Given the description of an element on the screen output the (x, y) to click on. 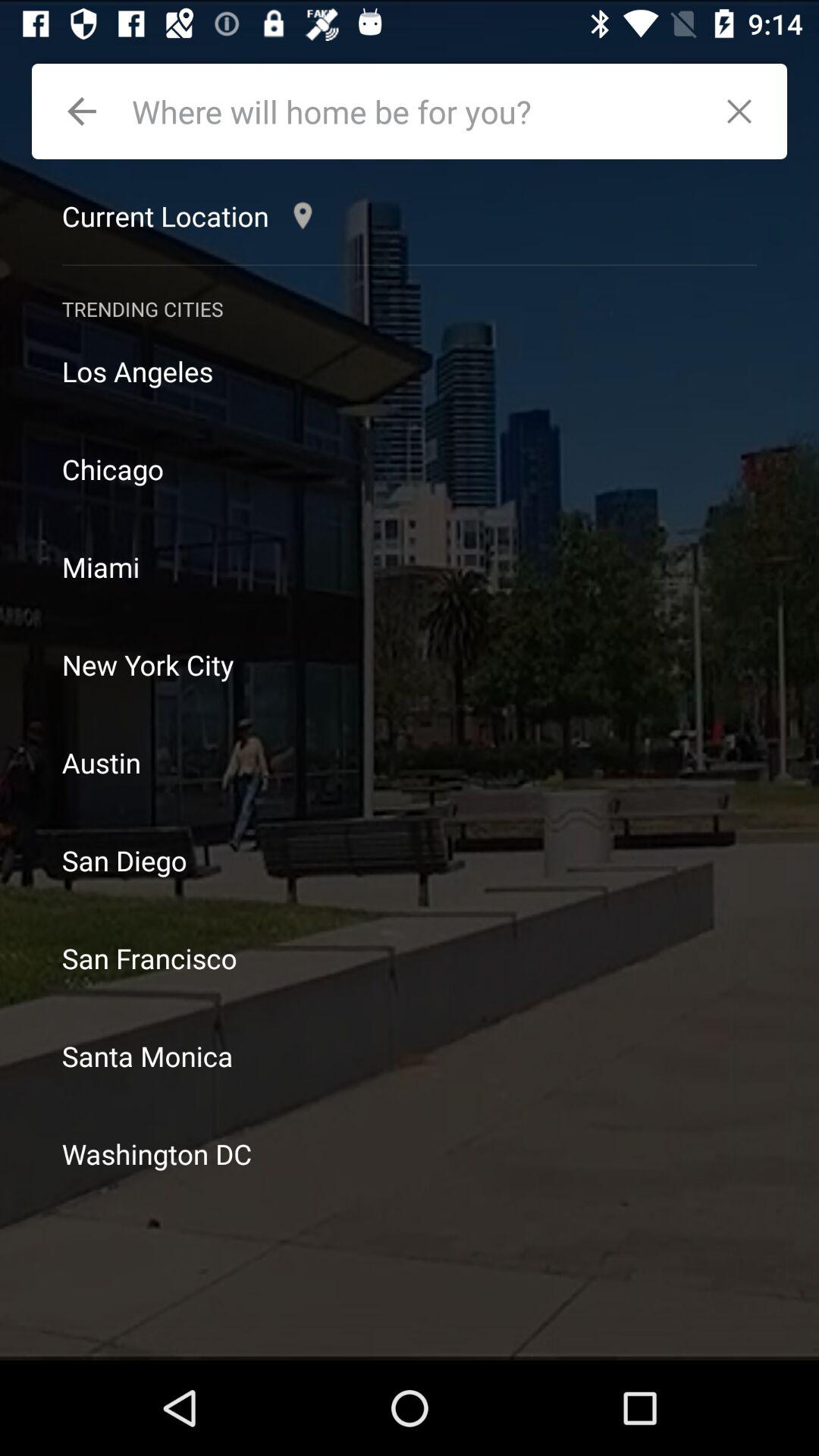
swipe until the current location icon (190, 215)
